Given the description of an element on the screen output the (x, y) to click on. 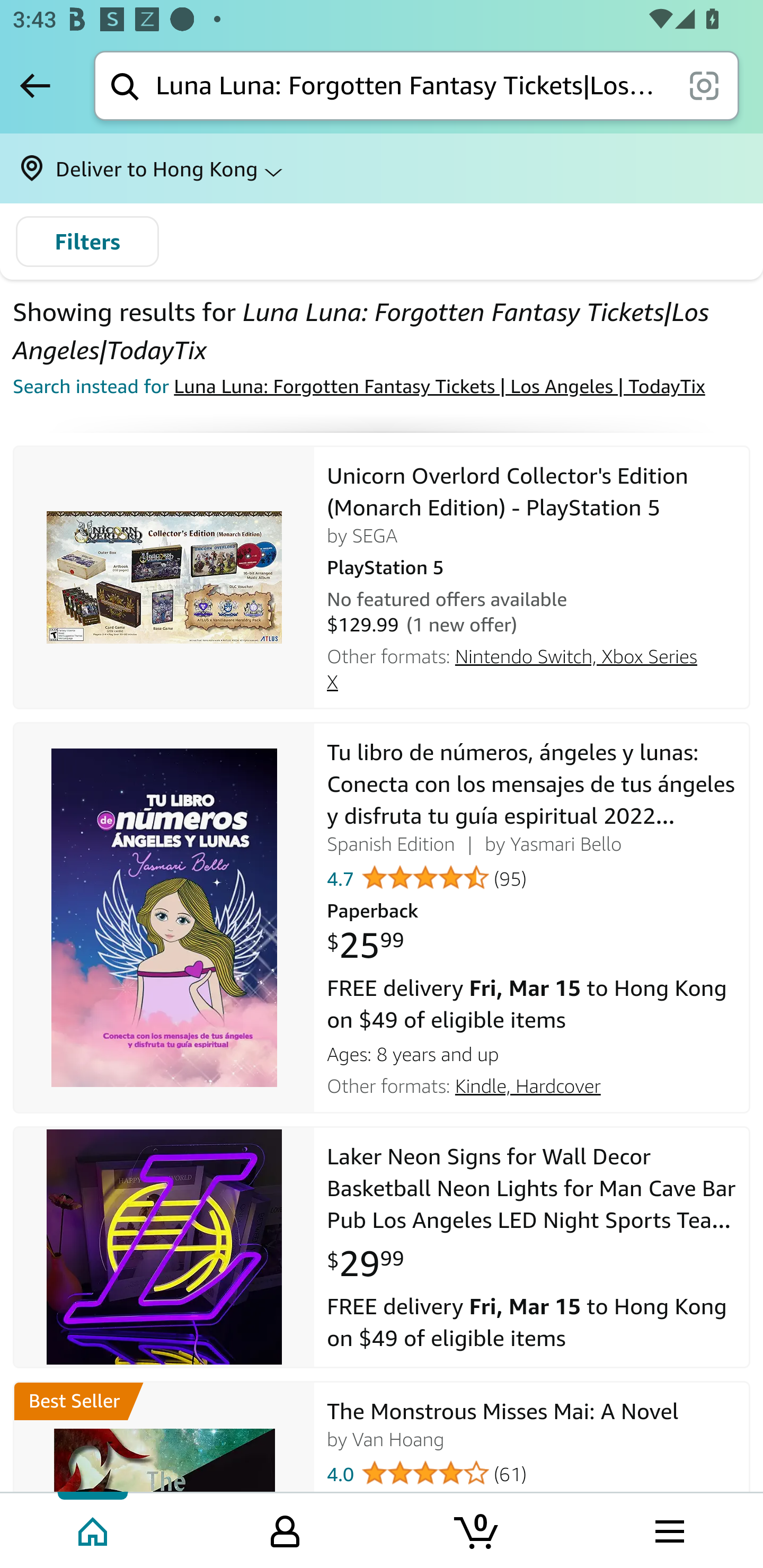
Back (35, 85)
scan it (704, 85)
Deliver to Hong Kong ⌵ (381, 168)
Filters (87, 241)
PlayStation 5 (532, 564)
Ages: 8 years and up (532, 1050)
Home Tab 1 of 4 (94, 1529)
Your Amazon.com Tab 2 of 4 (285, 1529)
Cart 0 item Tab 3 of 4 0 (477, 1529)
Browse menu Tab 4 of 4 (668, 1529)
